Given the description of an element on the screen output the (x, y) to click on. 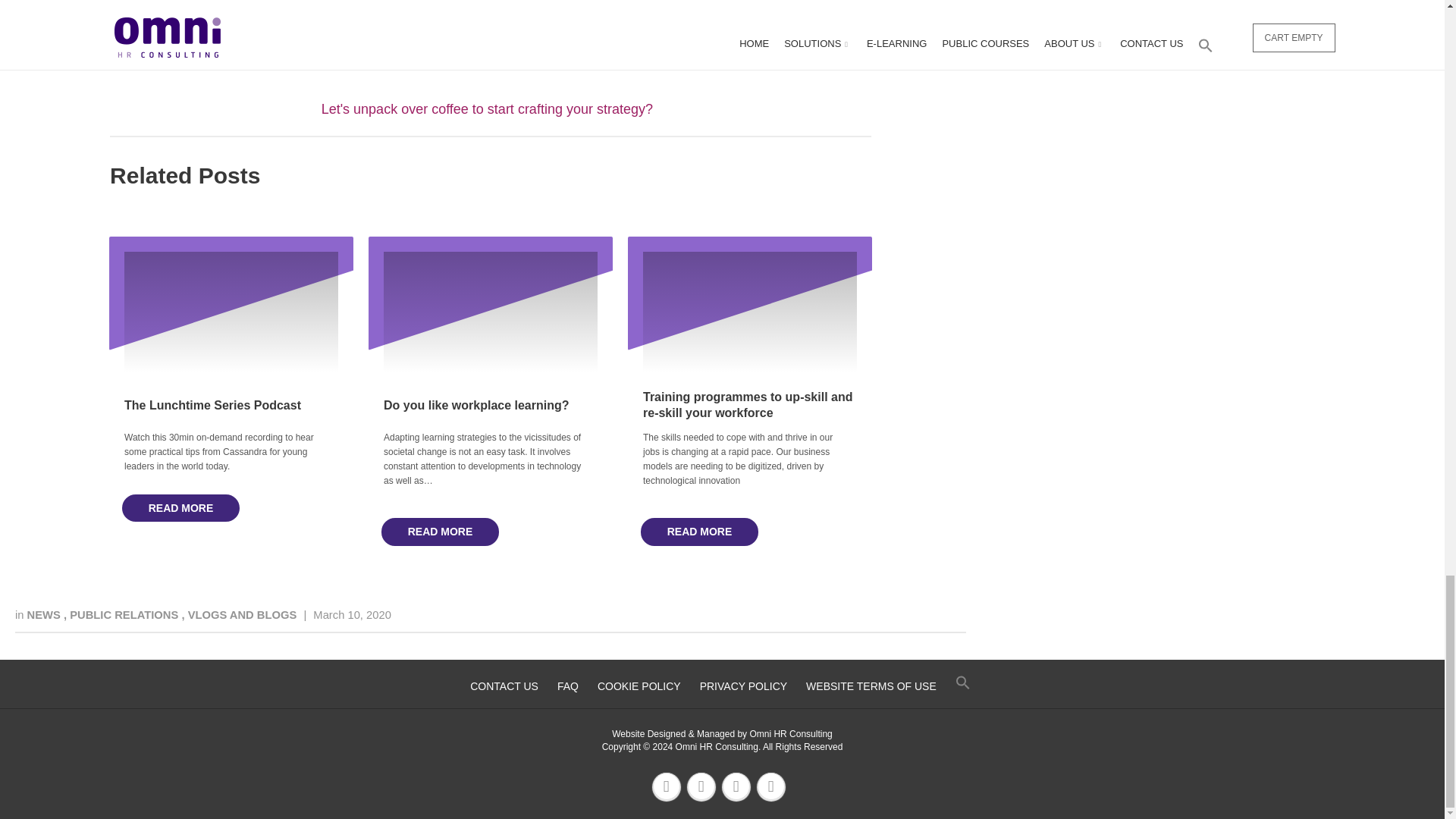
READ MORE (439, 531)
PUBLIC RELATIONS (124, 614)
READ MORE (699, 531)
Do you like workplace learning? (476, 404)
The Lunchtime Series Podcast (212, 404)
Development Stack (488, 26)
NEWS (45, 614)
The Lunchtime Series Podcast (212, 404)
Training programmes to up-skill and re-skill your workforce (747, 404)
READ MORE (180, 508)
